Given the description of an element on the screen output the (x, y) to click on. 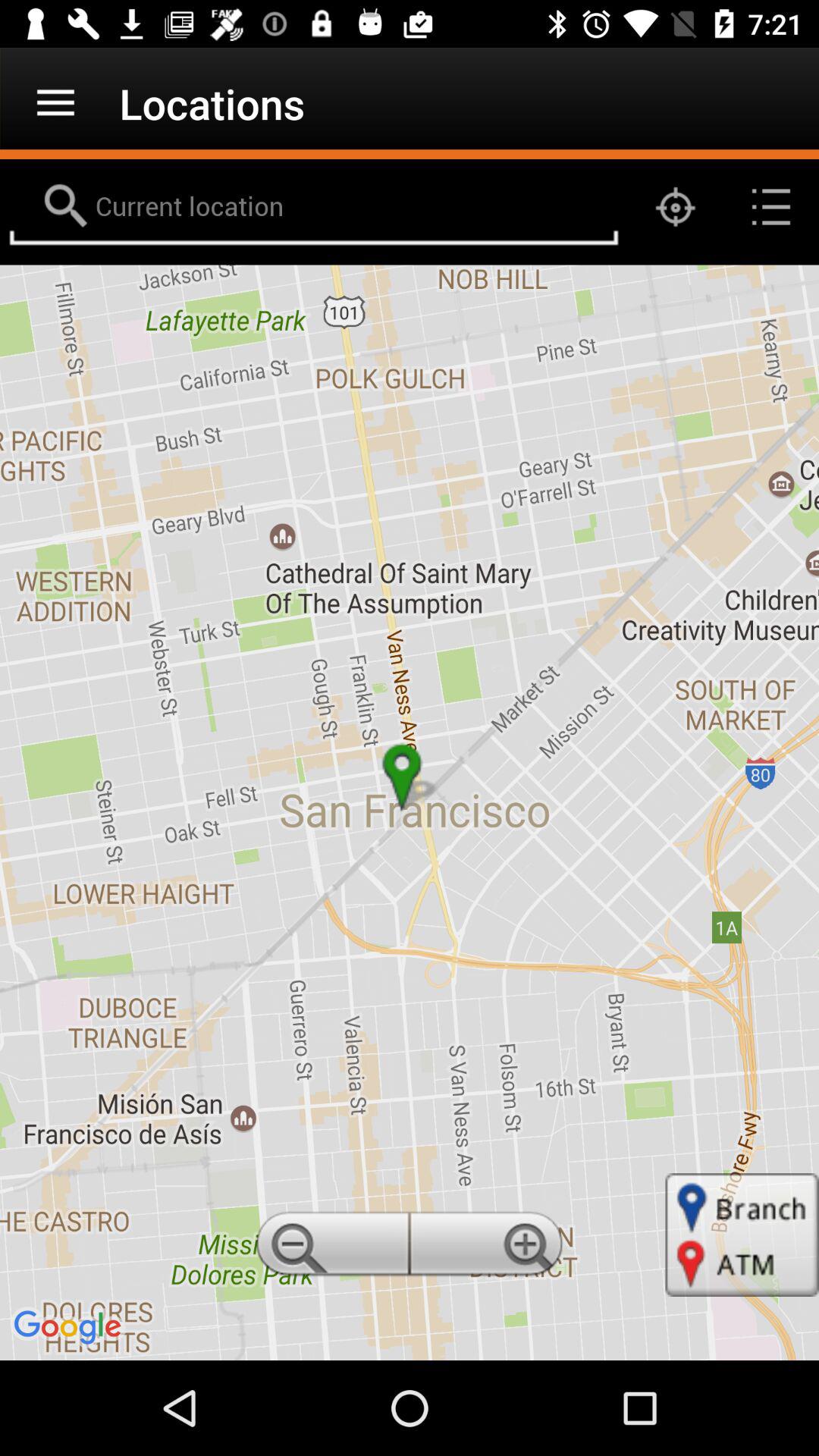
launch app next to locations app (55, 103)
